Given the description of an element on the screen output the (x, y) to click on. 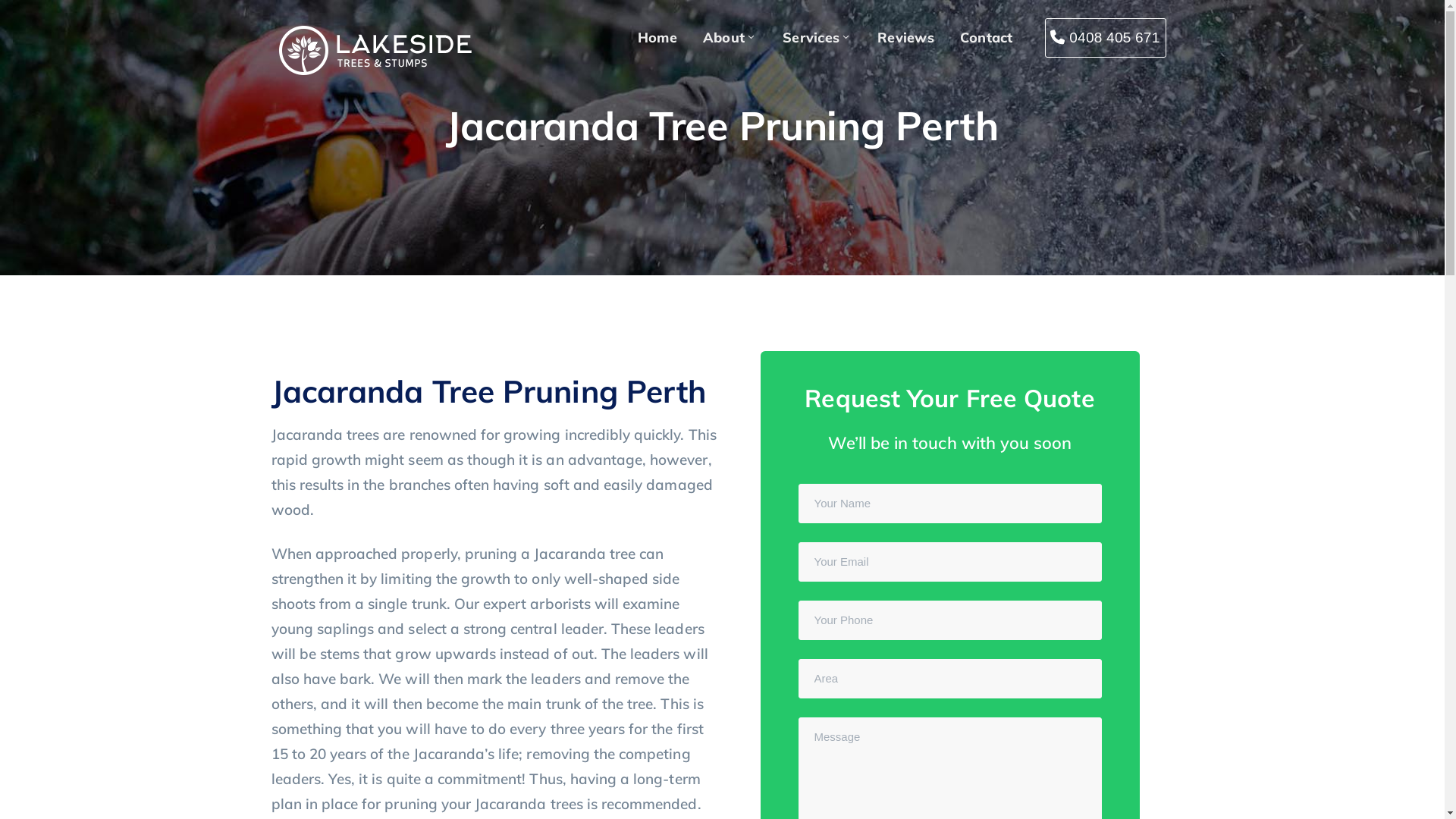
Contact Element type: text (986, 37)
About Element type: text (729, 37)
Services Element type: text (816, 37)
Lakeside Trees and Stumps Element type: hover (375, 48)
Reviews Element type: text (905, 37)
 0408 405 671 Element type: text (1105, 37)
Home Element type: text (657, 37)
